Given the description of an element on the screen output the (x, y) to click on. 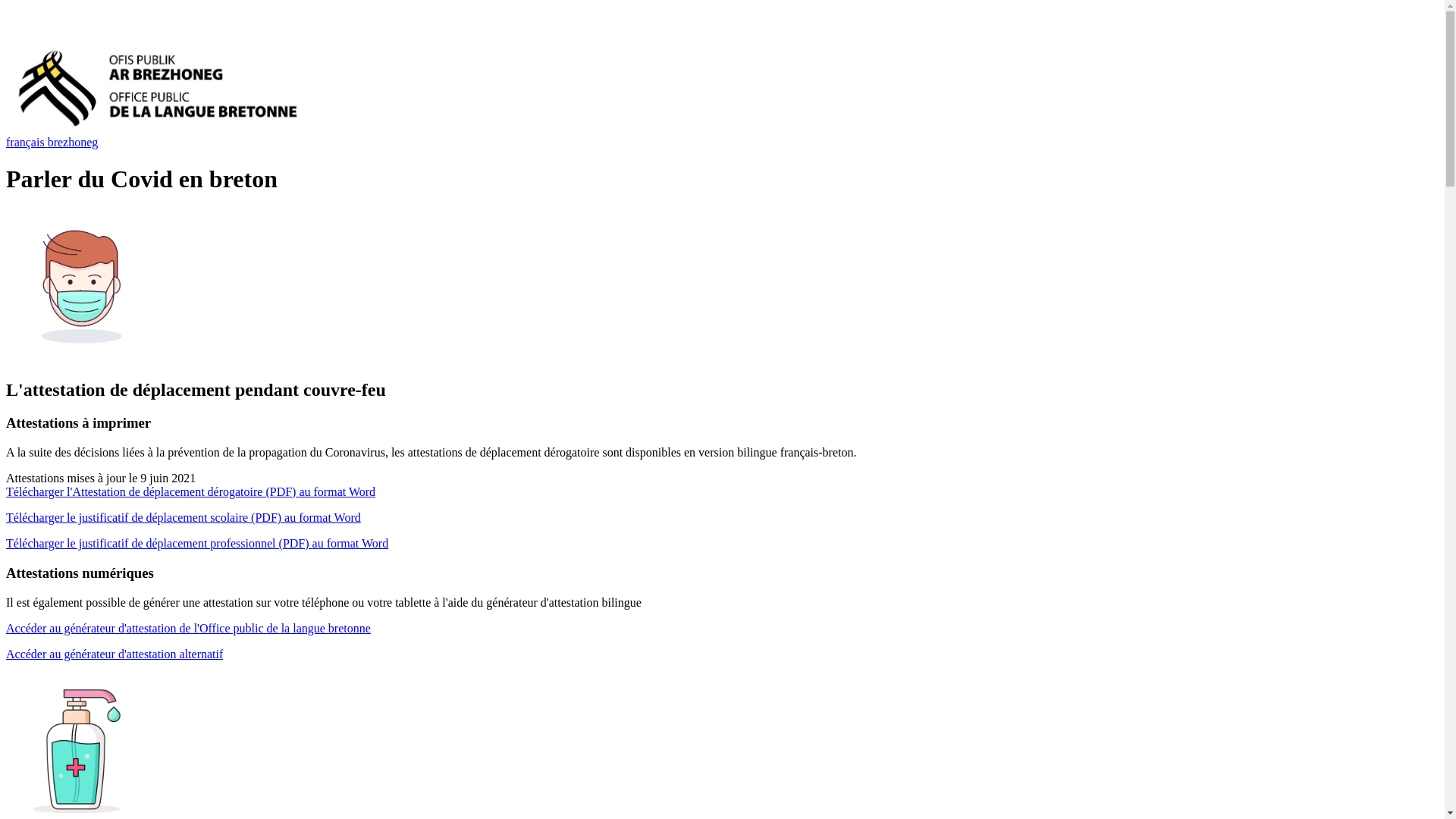
au format Word Element type: text (350, 542)
au format Word Element type: text (336, 491)
au format Word Element type: text (322, 517)
brezhoneg Element type: text (72, 141)
